Given the description of an element on the screen output the (x, y) to click on. 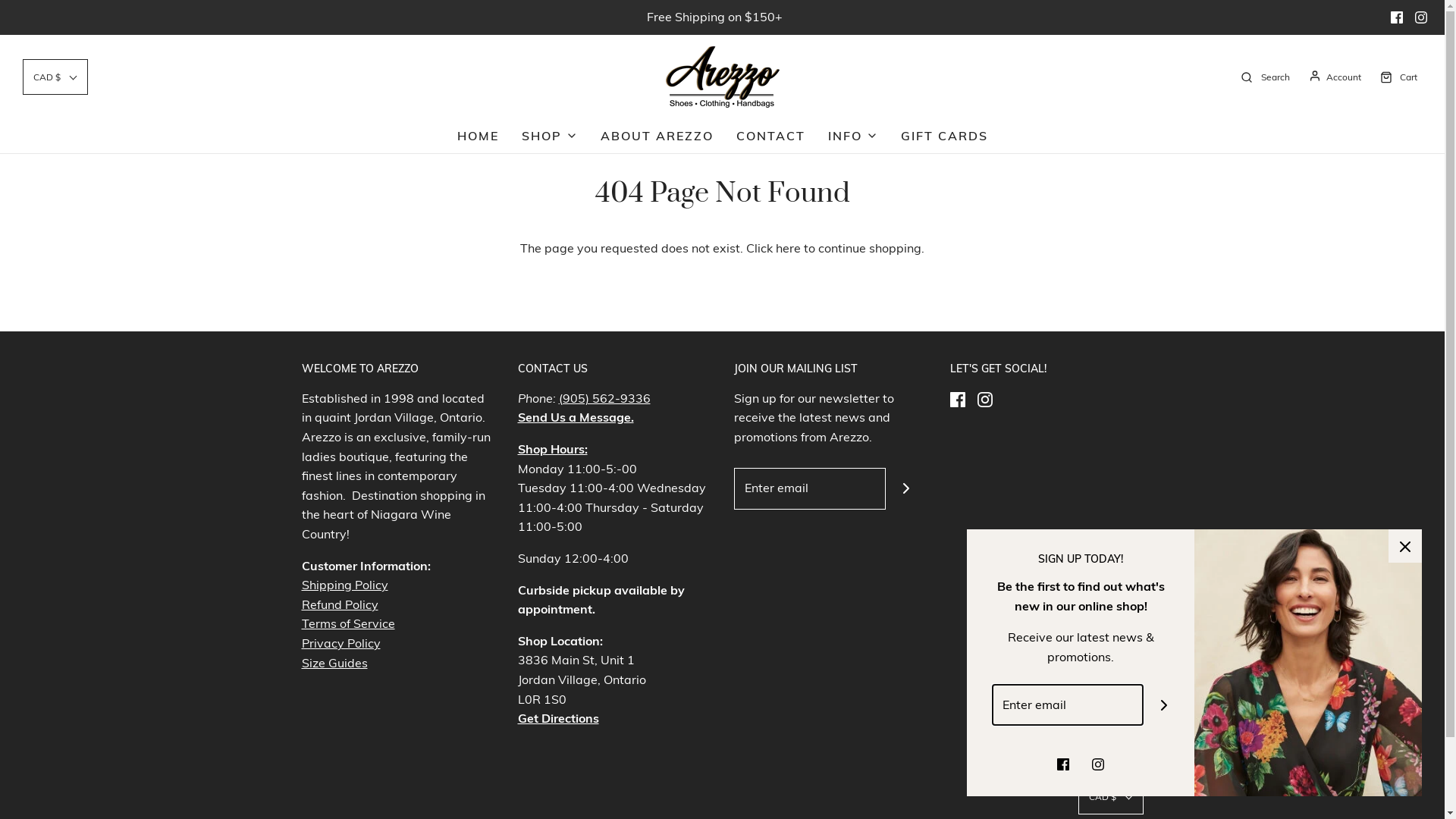
Facebook icon Element type: text (1396, 17)
Get Directions Element type: text (557, 717)
Instagram icon Element type: text (983, 398)
CONTACT Element type: text (769, 136)
Cart Element type: text (1396, 76)
SHOP Element type: text (549, 136)
CAD $ Element type: text (54, 76)
Account Element type: text (1333, 76)
Refund Policy Element type: text (339, 603)
Size Guides Element type: text (334, 662)
Privacy Policy Element type: text (340, 642)
Shipping Policy Element type: text (344, 584)
Send Us a Message. Element type: text (575, 416)
Facebook icon Element type: text (956, 398)
Search Element type: text (1263, 76)
INFO Element type: text (853, 136)
ABOUT AREZZO Element type: text (656, 136)
HOME Element type: text (477, 136)
here Element type: text (787, 247)
GIFT CARDS Element type: text (944, 136)
Instagram icon Element type: text (1098, 763)
(905) 562-9336 Element type: text (603, 397)
CAD $ Element type: text (1110, 796)
Instagram icon Element type: text (1421, 17)
Terms of Service Element type: text (348, 622)
Facebook icon Element type: text (1063, 763)
